Given the description of an element on the screen output the (x, y) to click on. 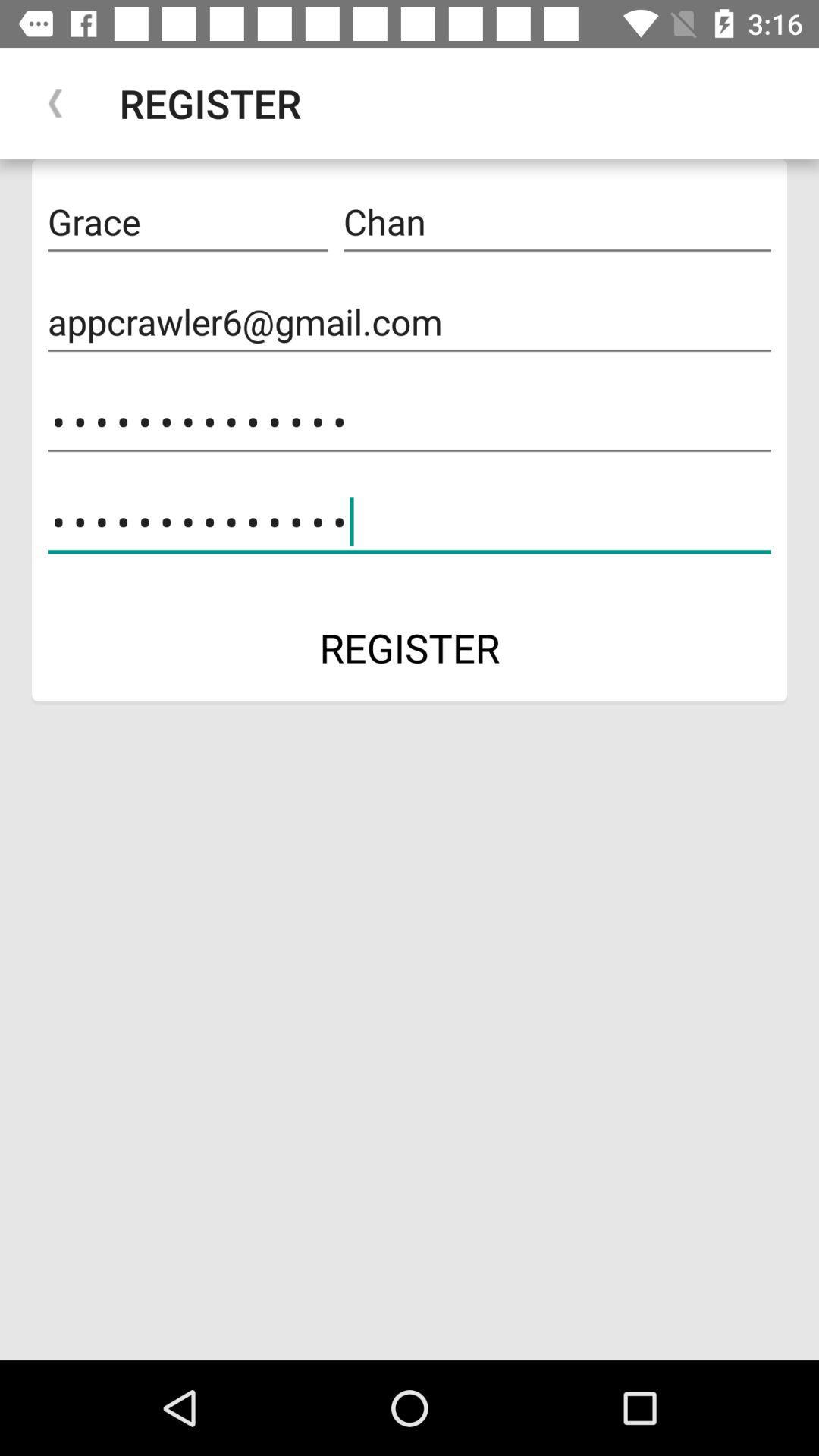
select the chan icon (557, 222)
